Given the description of an element on the screen output the (x, y) to click on. 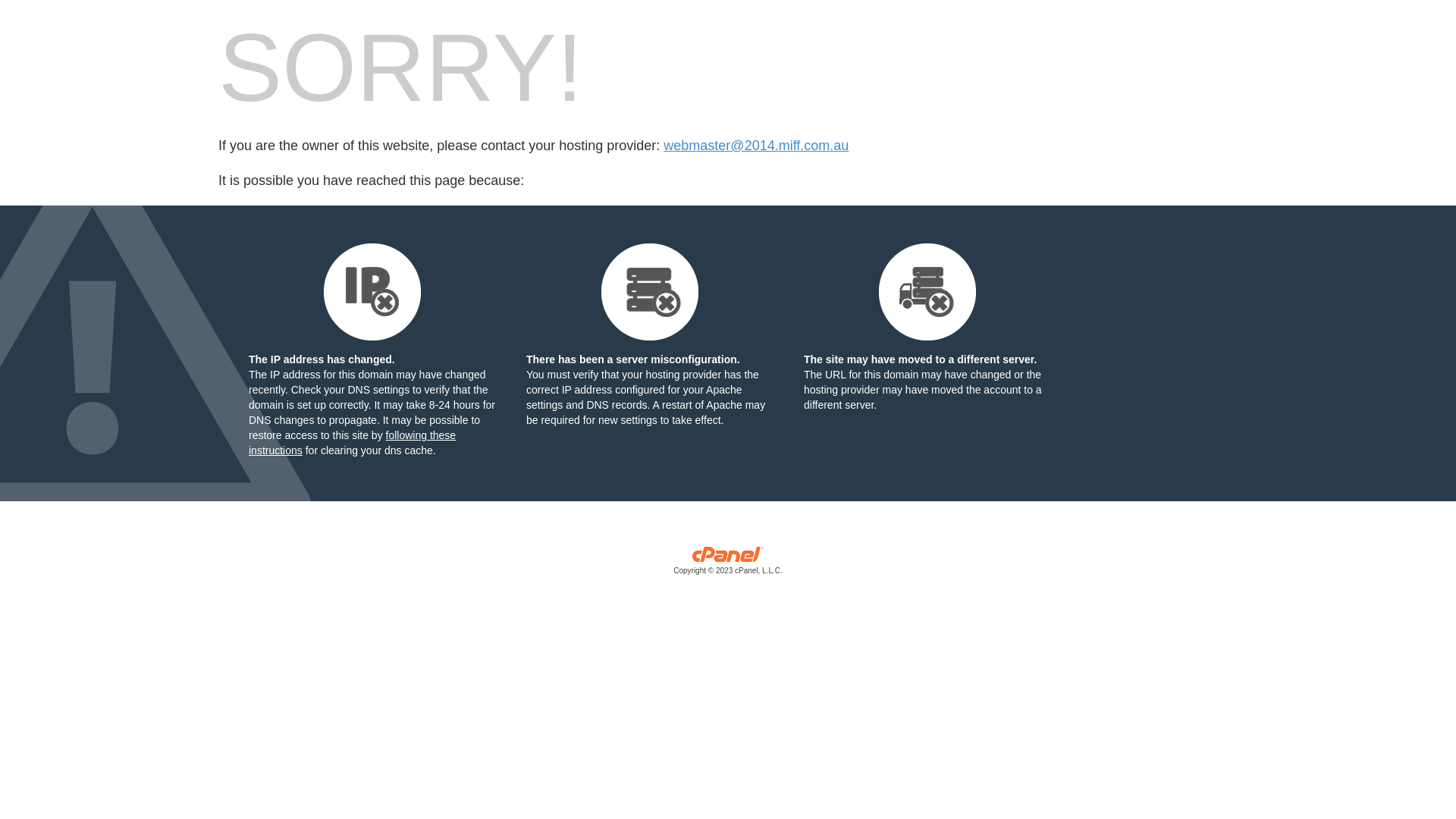
webmaster@2014.miff.com.au Element type: text (755, 145)
following these instructions Element type: text (351, 442)
